Given the description of an element on the screen output the (x, y) to click on. 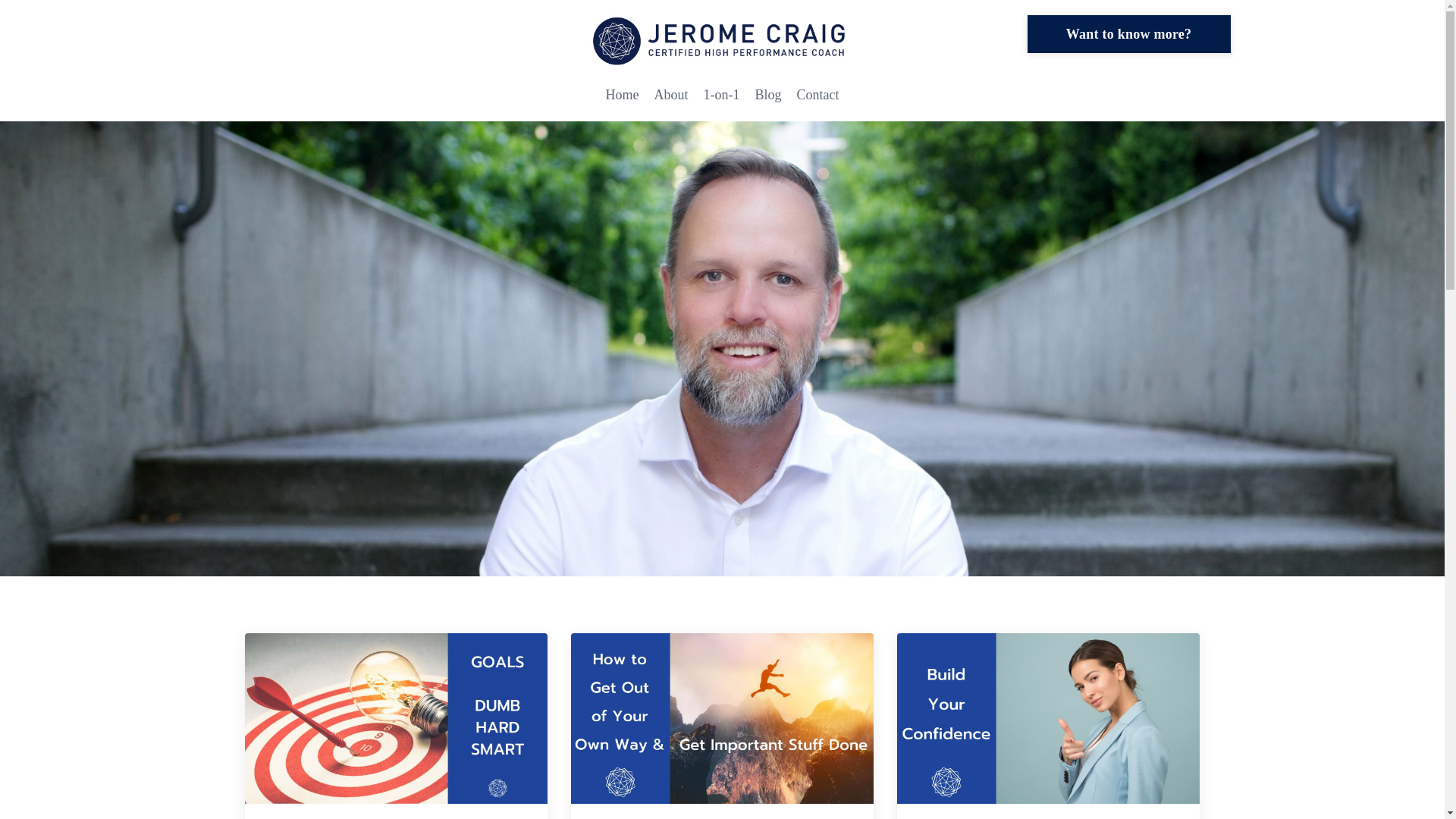
1-on-1 (721, 95)
Blog (767, 95)
Want to know more? (1128, 34)
About (670, 95)
Home (622, 95)
Contact (817, 95)
